Given the description of an element on the screen output the (x, y) to click on. 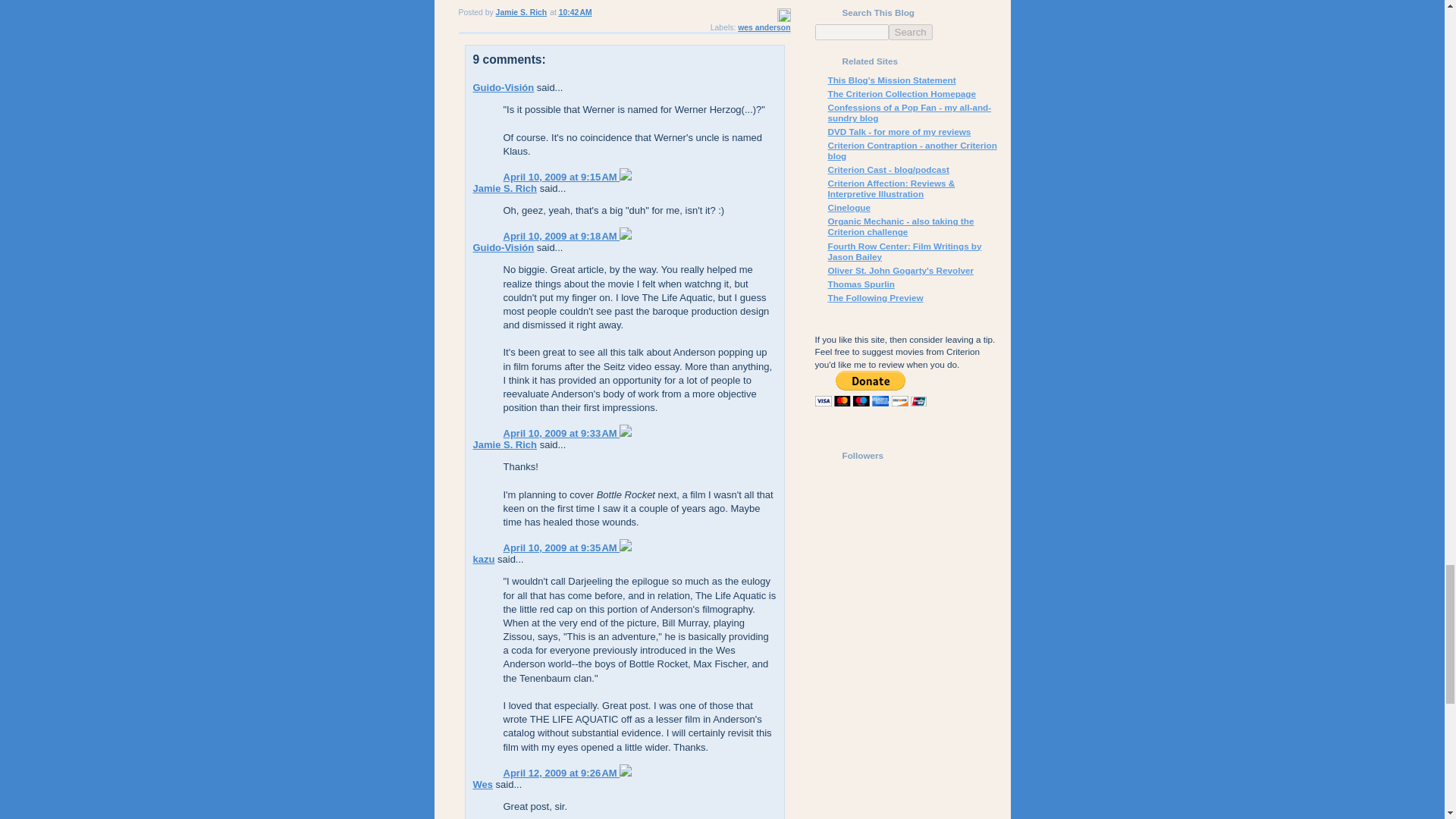
comment permalink (561, 235)
comment permalink (561, 547)
Delete Comment (625, 547)
Jamie S. Rich (505, 188)
Delete Comment (625, 235)
comment permalink (561, 432)
Edit Post (783, 19)
permanent link (575, 12)
Jamie S. Rich (505, 444)
Delete Comment (625, 432)
Search (910, 32)
